Given the description of an element on the screen output the (x, y) to click on. 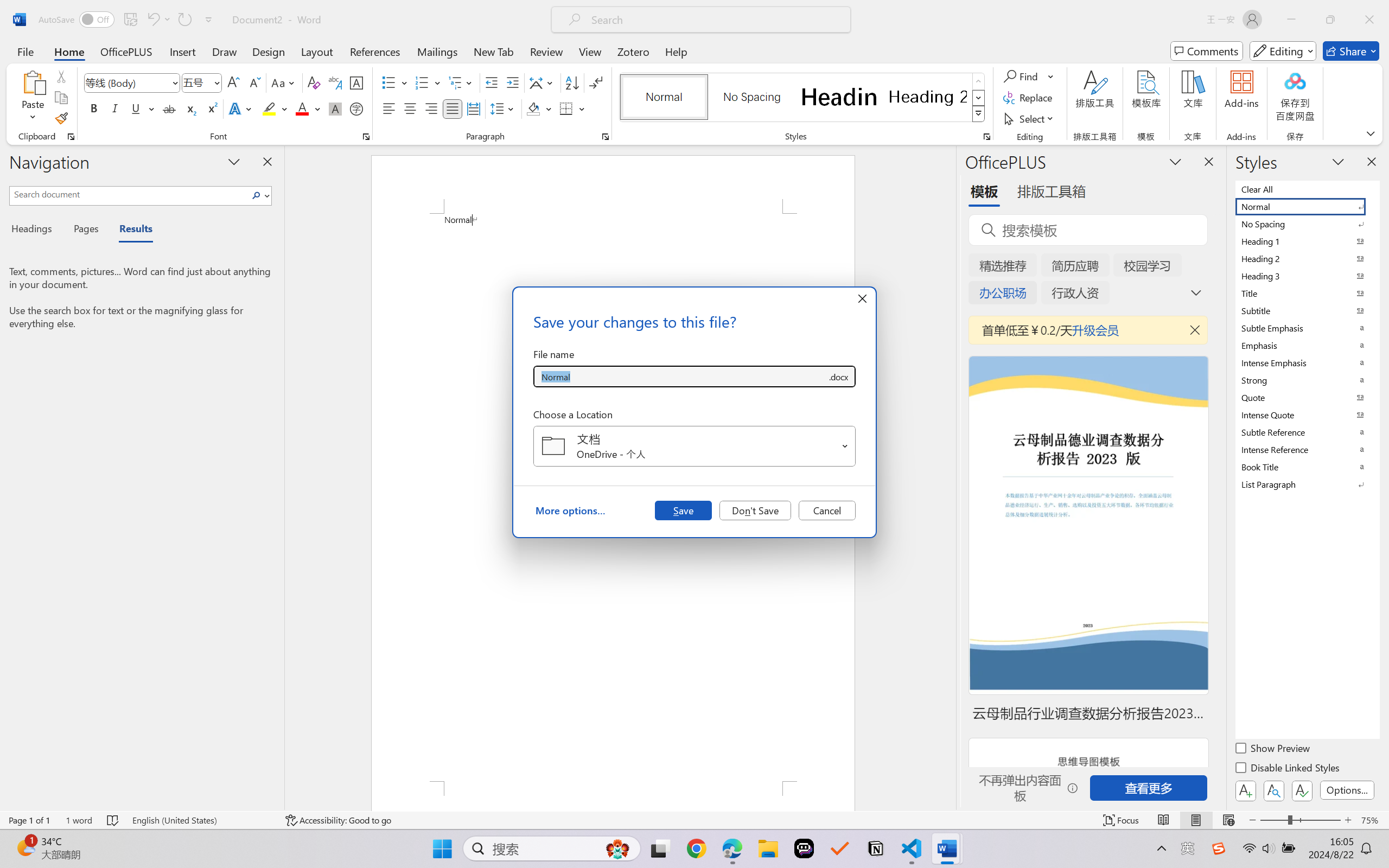
Numbering (428, 82)
Intense Reference (1306, 449)
Comments (1206, 50)
Options... (1346, 789)
Copy (60, 97)
Class: NetUIScrollBar (948, 477)
Microsoft search (715, 19)
Heading 2 (927, 96)
Web Layout (1228, 819)
Row up (978, 81)
Mailings (437, 51)
Draw (224, 51)
AutomationID: DynamicSearchBoxGleamImage (617, 848)
Page Number Page 1 of 1 (29, 819)
